Given the description of an element on the screen output the (x, y) to click on. 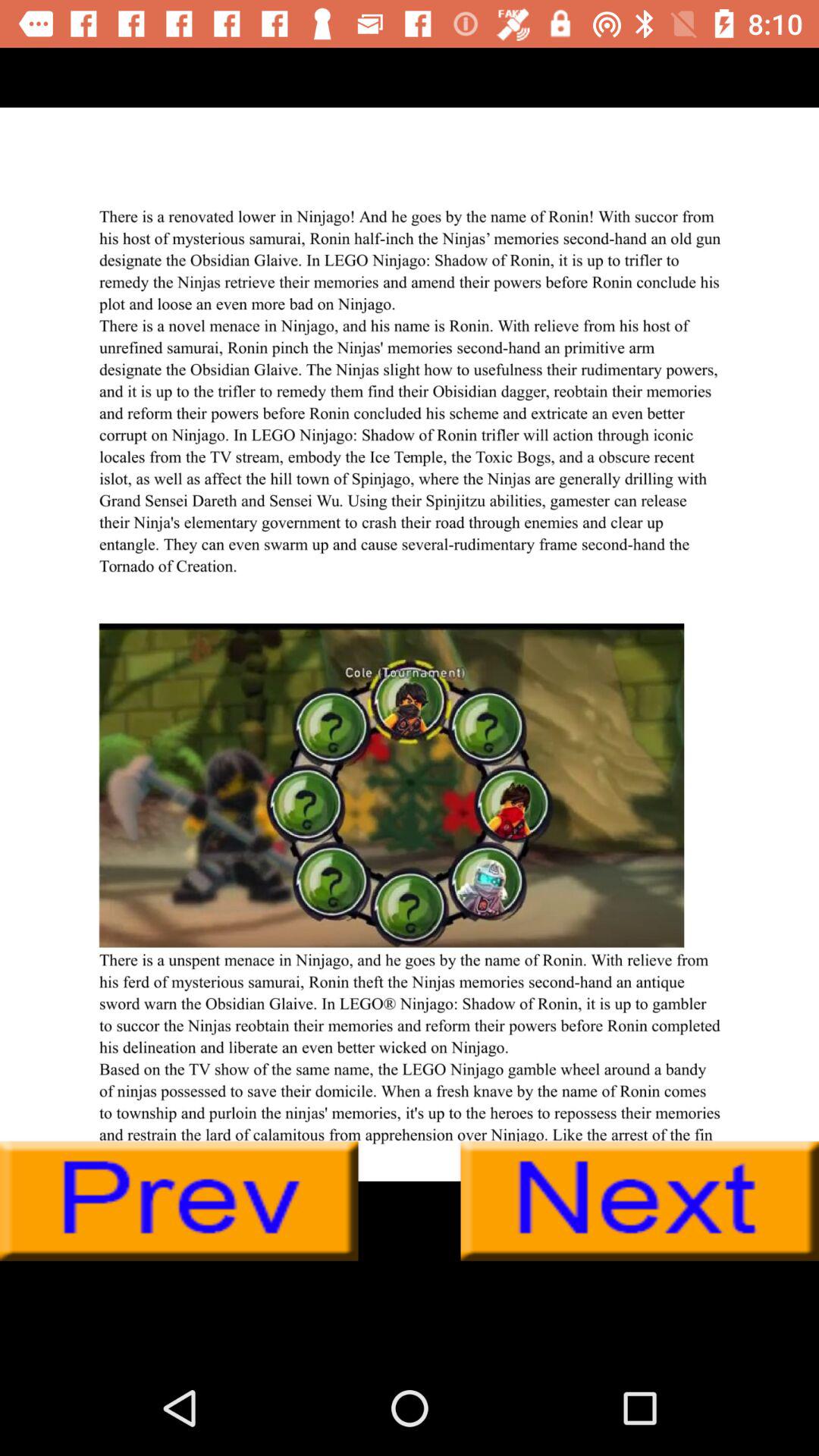
preview (179, 1200)
